Given the description of an element on the screen output the (x, y) to click on. 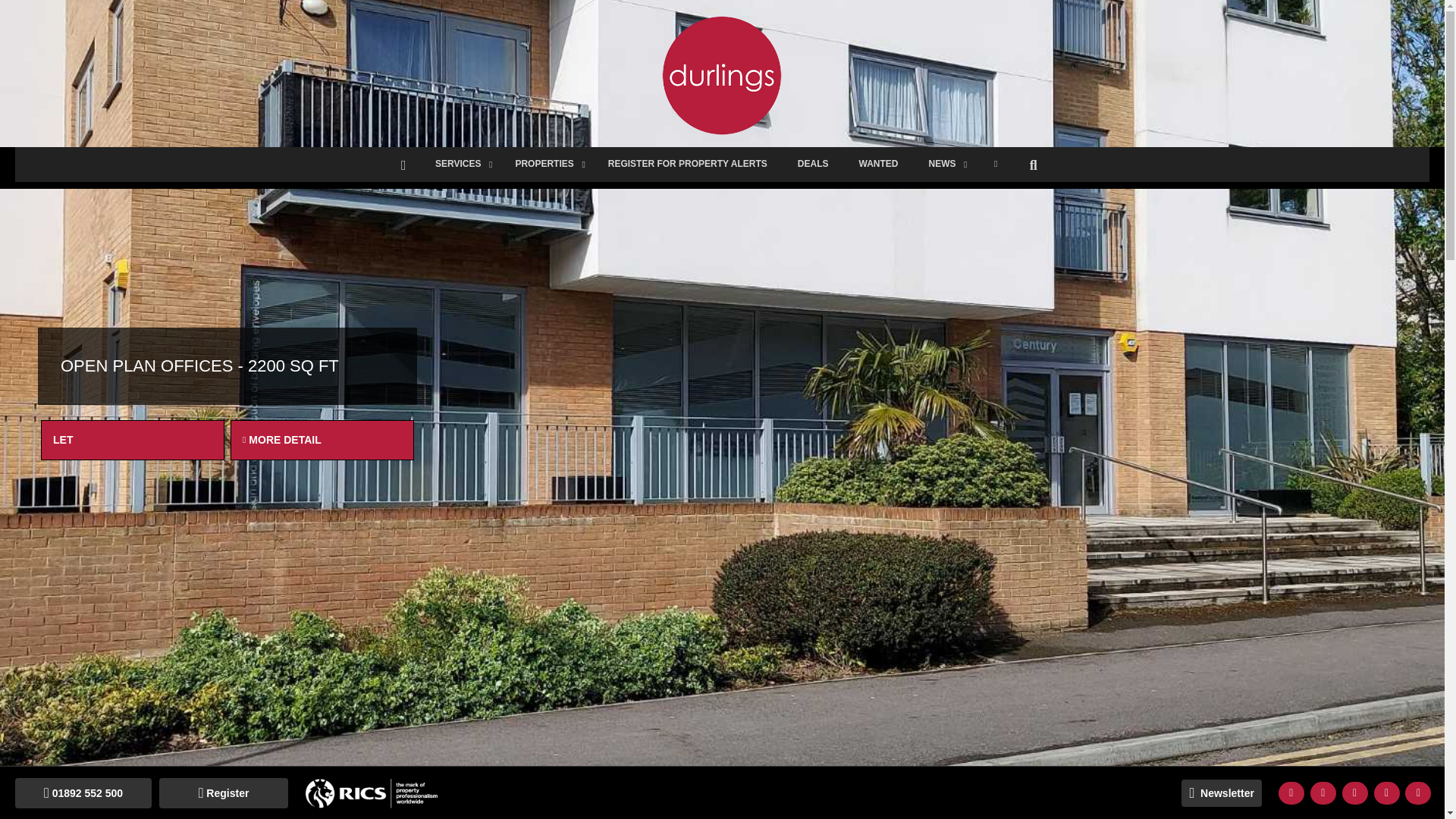
SERVICES (459, 164)
Share on Facebook. (1291, 793)
NEWS (943, 164)
REGISTER FOR PROPERTY ALERTS (687, 164)
WANTED (877, 164)
PROPERTIES (545, 164)
DEALS (813, 164)
